Given the description of an element on the screen output the (x, y) to click on. 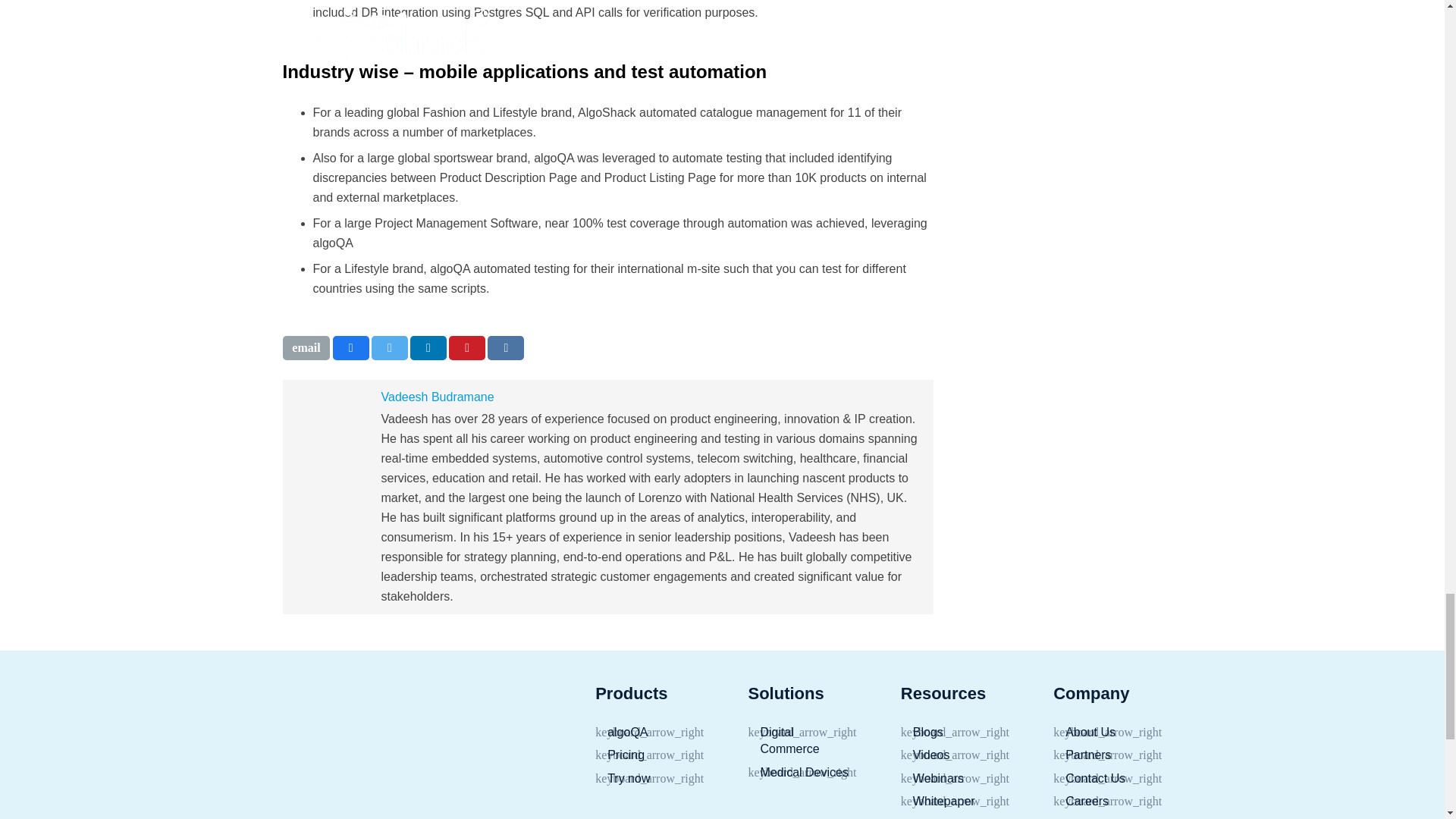
Tweet this (389, 347)
Share this (428, 347)
Email this (306, 347)
Share this (351, 347)
Share this (505, 347)
Pin this (466, 347)
